Given the description of an element on the screen output the (x, y) to click on. 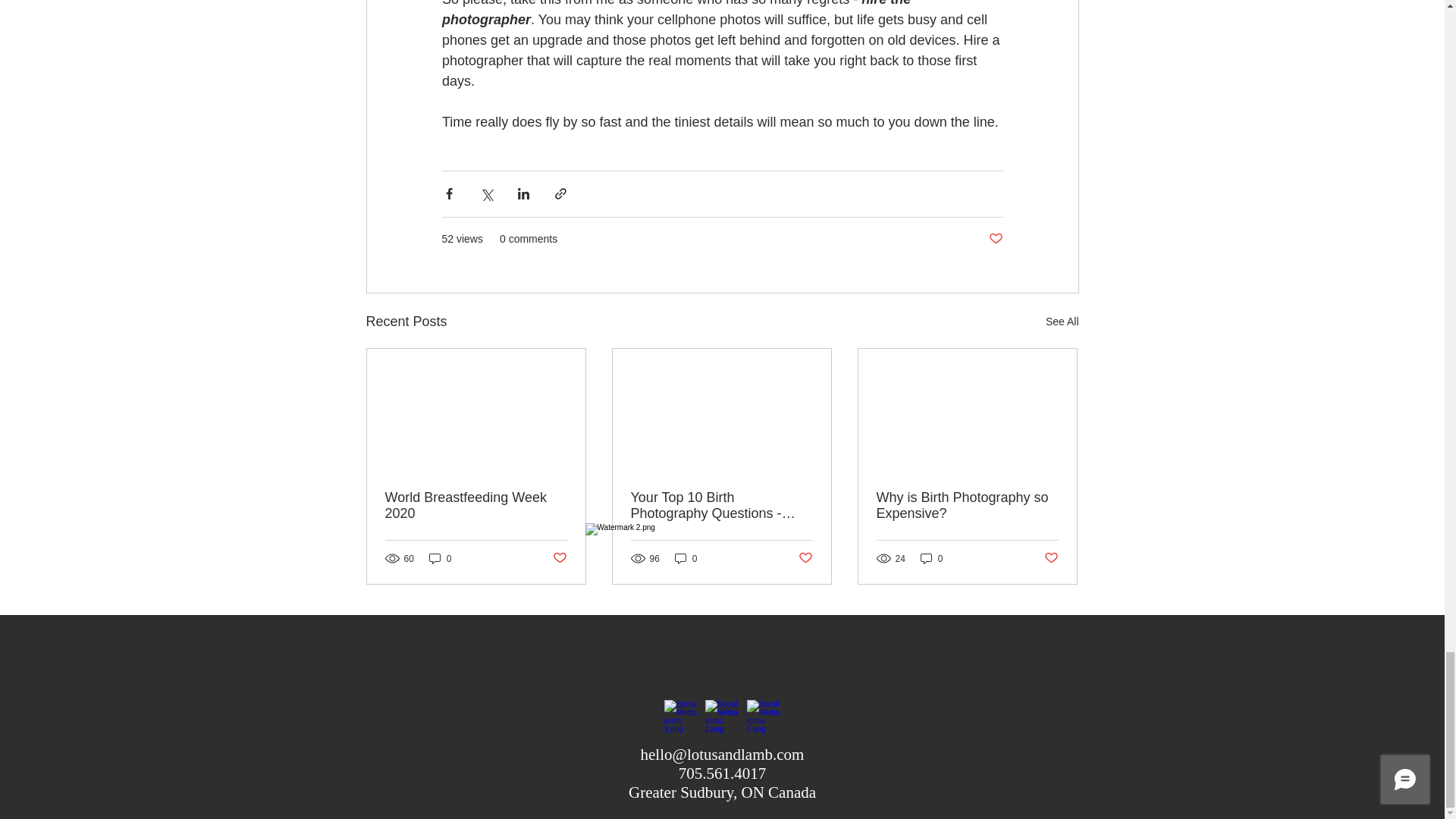
0 (440, 558)
Post not marked as liked (558, 558)
Why is Birth Photography so Expensive? (967, 505)
0 (685, 558)
See All (1061, 321)
Post not marked as liked (1050, 558)
Post not marked as liked (804, 558)
Post not marked as liked (995, 238)
Your Top 10 Birth Photography Questions - Answered (721, 505)
World Breastfeeding Week 2020 (476, 505)
0 (931, 558)
